Given the description of an element on the screen output the (x, y) to click on. 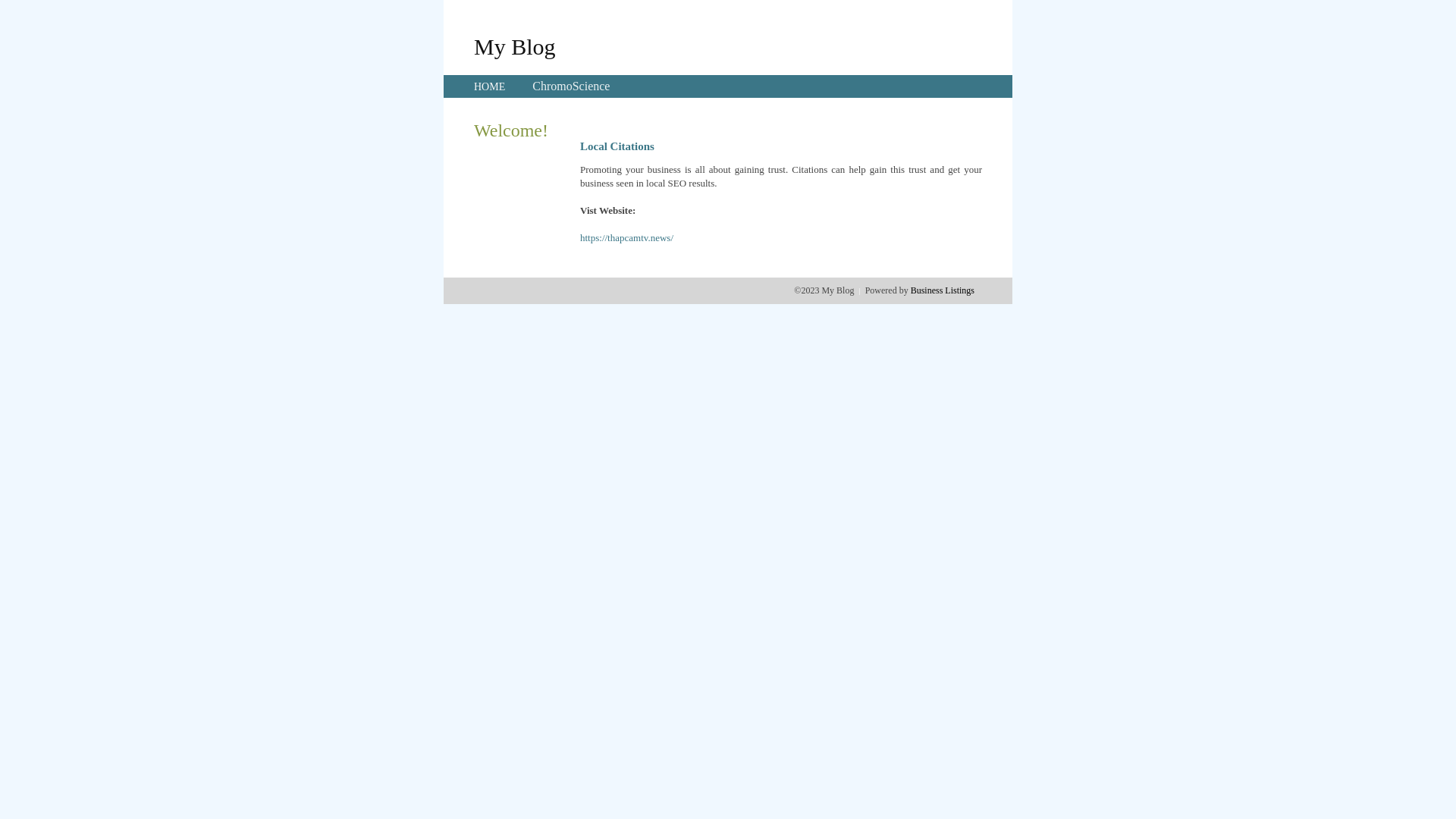
https://thapcamtv.news/ Element type: text (626, 237)
My Blog Element type: text (514, 46)
HOME Element type: text (489, 86)
ChromoScience Element type: text (570, 85)
Business Listings Element type: text (942, 290)
